Given the description of an element on the screen output the (x, y) to click on. 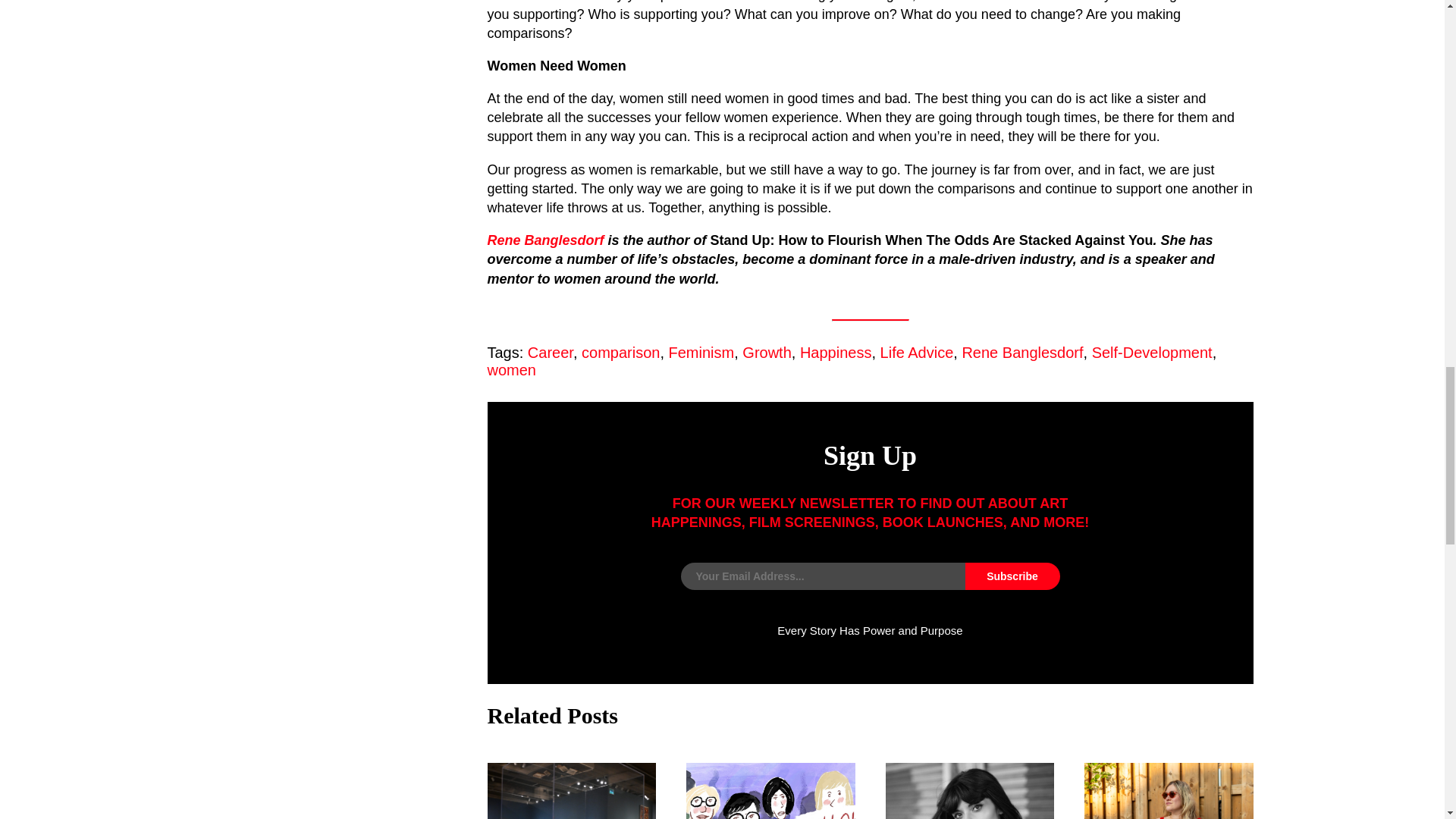
Self-Development (1152, 352)
Happiness (835, 352)
Subscribe (1011, 575)
Rene Banglesdorf (1021, 352)
Growth (766, 352)
comparison (619, 352)
Feminism (701, 352)
Rene Banglesdorf (545, 240)
Life Advice (916, 352)
Career (550, 352)
